Given the description of an element on the screen output the (x, y) to click on. 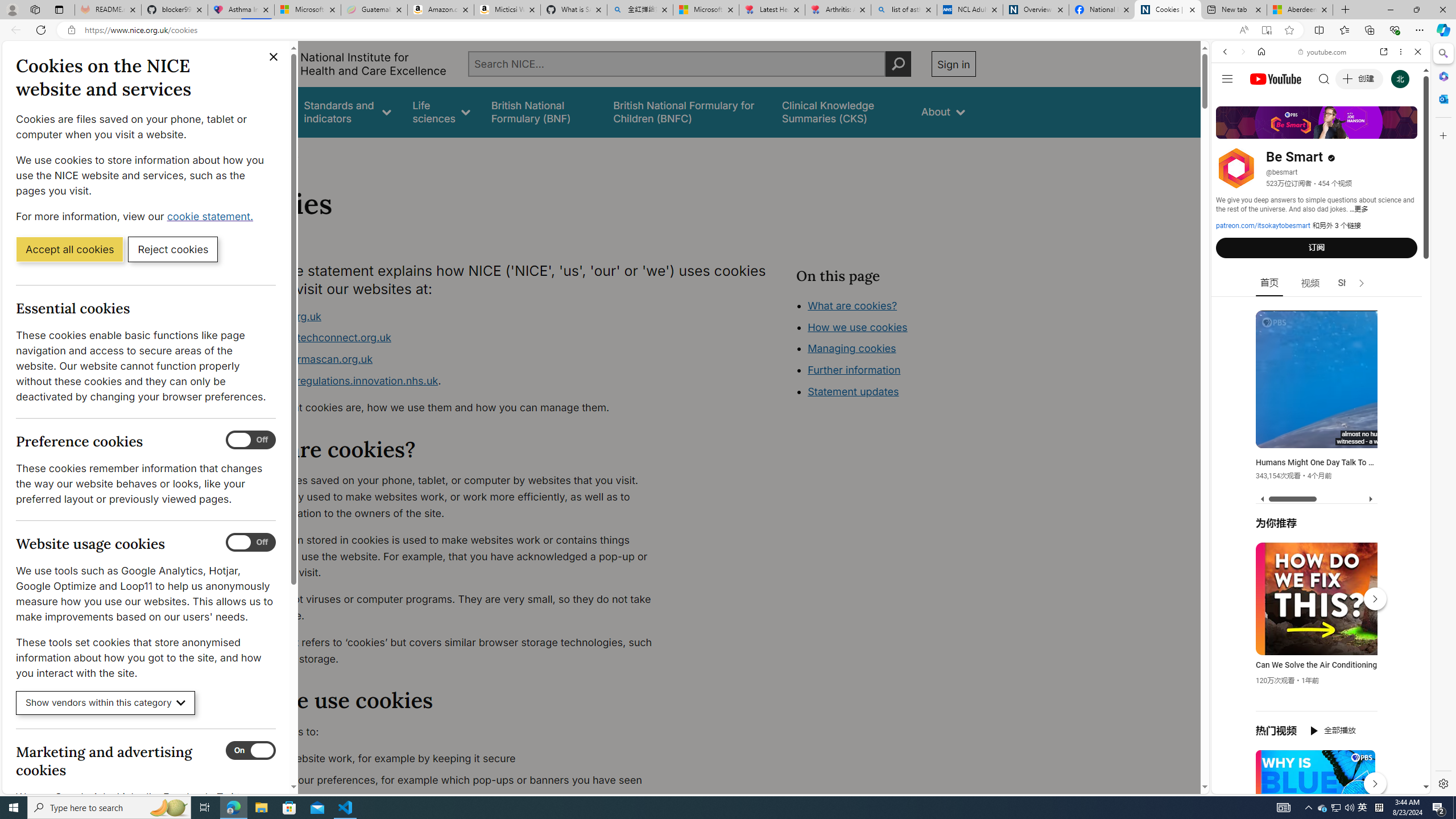
Show vendors within this category (105, 703)
NCL Adult Asthma Inhaler Choice Guideline (969, 9)
Preference cookies (250, 439)
Guidance (260, 111)
Shorts (1351, 283)
